Given the description of an element on the screen output the (x, y) to click on. 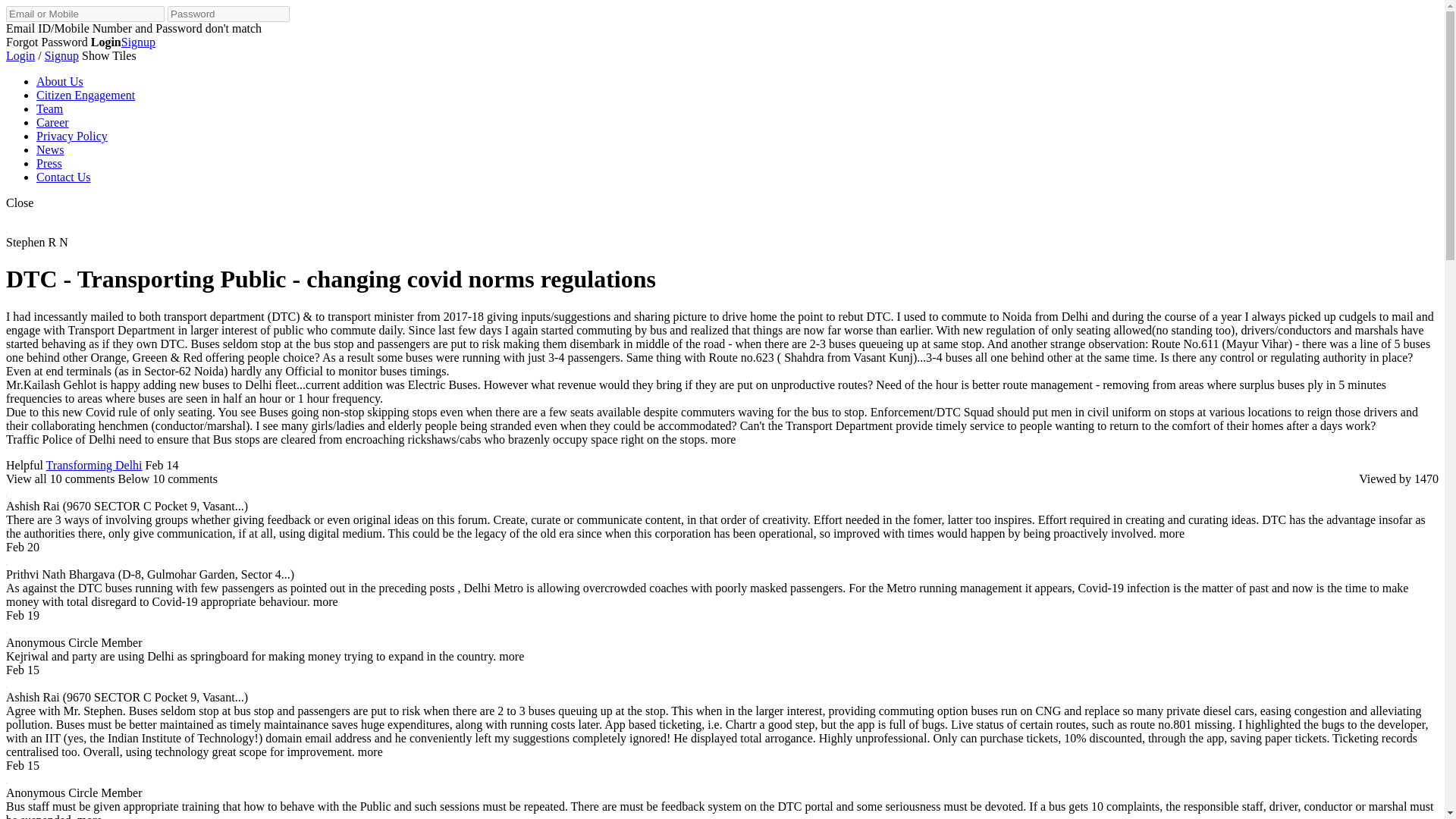
About Us (59, 81)
Career (52, 122)
View all 10 comments (61, 478)
Press (49, 163)
more   (328, 601)
Team (49, 108)
more   (514, 656)
Anonymous Circle Member (73, 642)
more   (1174, 533)
Press (49, 163)
Privacy Policy (71, 135)
Forgot Password (46, 42)
News (50, 149)
Helpful (24, 464)
About Us (59, 81)
